Given the description of an element on the screen output the (x, y) to click on. 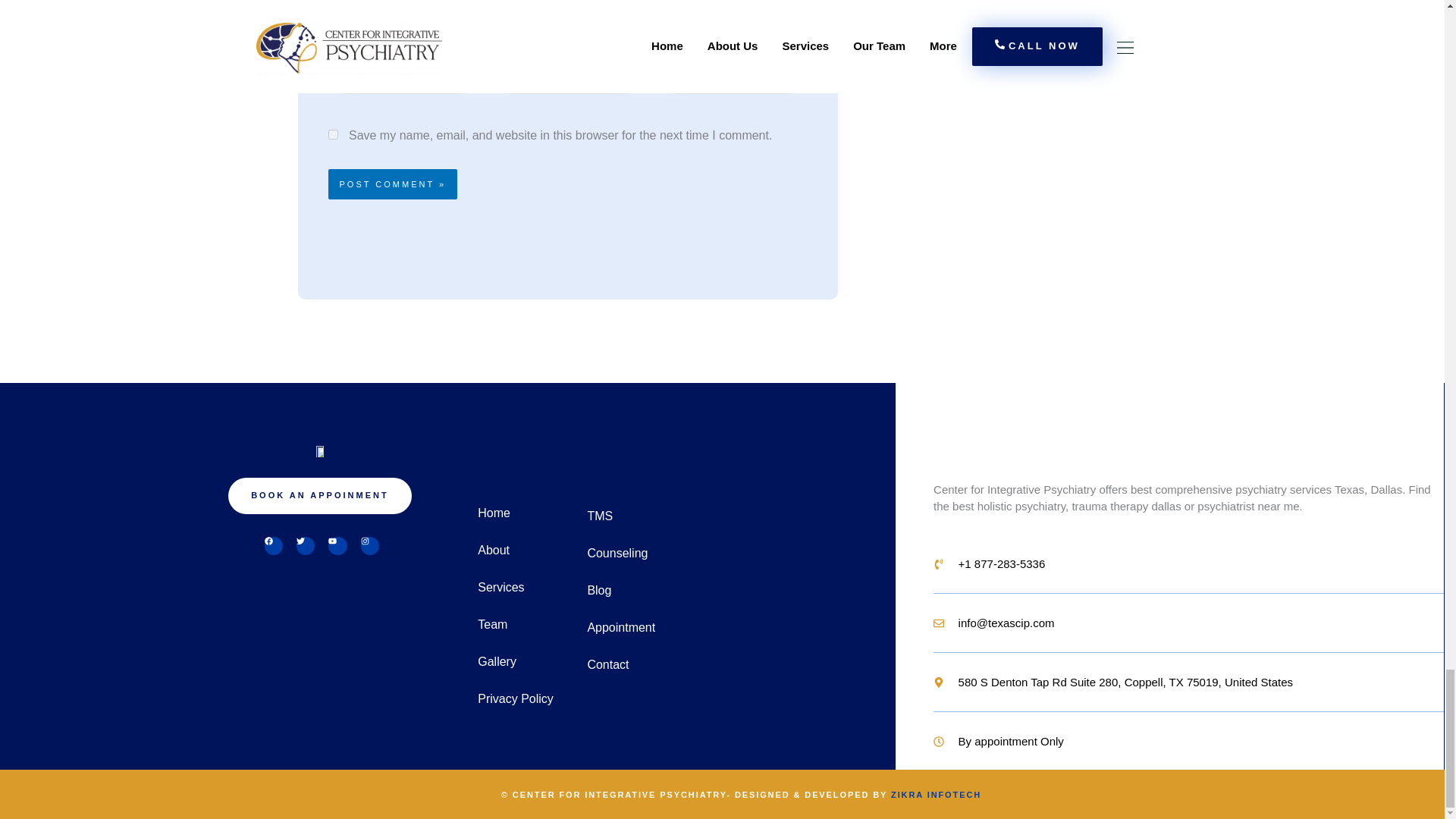
yes (332, 134)
